Given the description of an element on the screen output the (x, y) to click on. 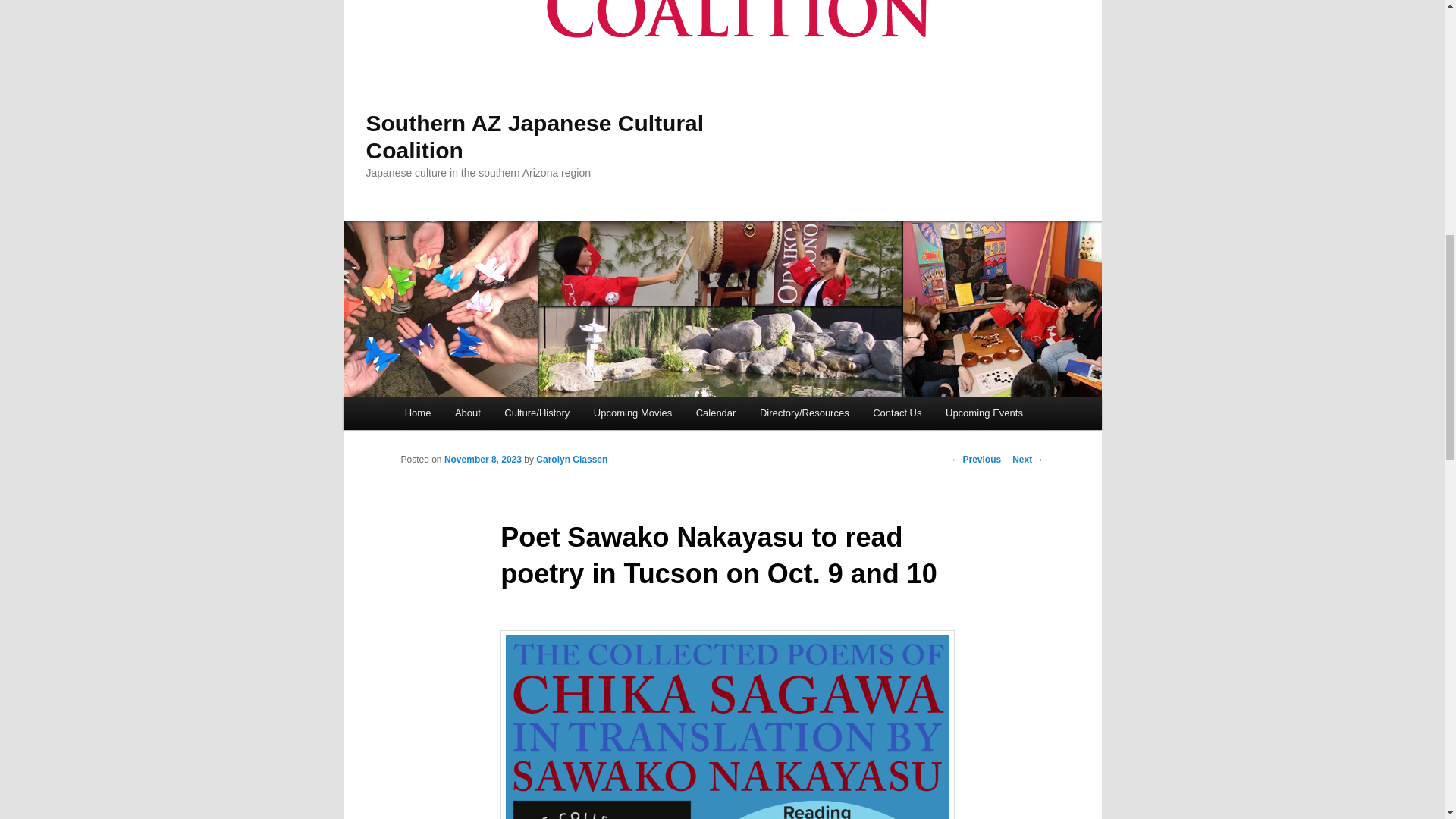
Carolyn Classen (571, 459)
View all posts by Carolyn Classen (571, 459)
Home (417, 412)
About (467, 412)
Southern AZ Japanese Cultural Coalition (534, 136)
November 8, 2023 (482, 459)
Upcoming Movies (632, 412)
Calendar (716, 412)
Contact Us (896, 412)
